Given the description of an element on the screen output the (x, y) to click on. 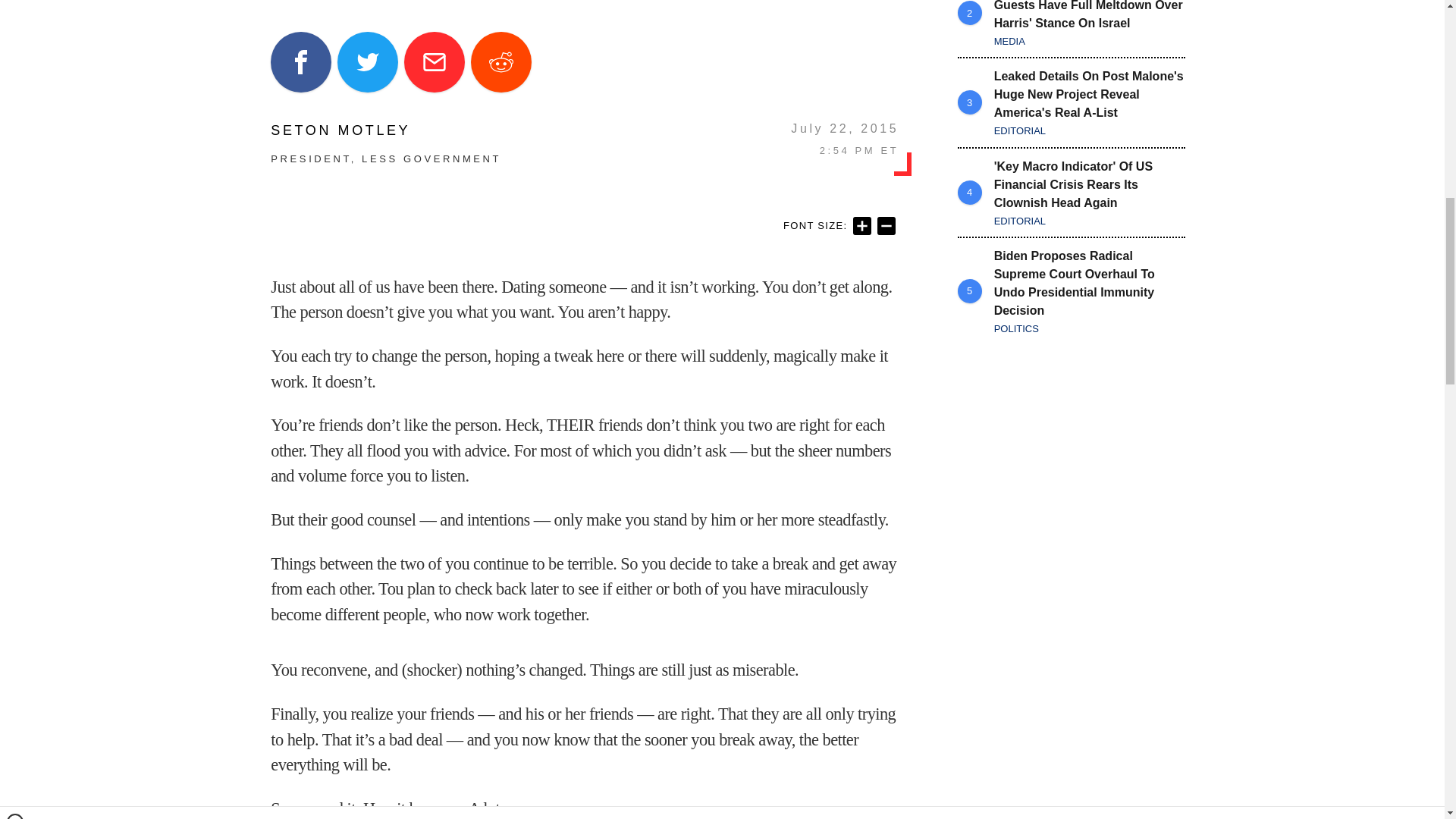
SETON MOTLEY (385, 130)
Close window (14, 6)
View More Articles By Seton Motley (385, 130)
